Given the description of an element on the screen output the (x, y) to click on. 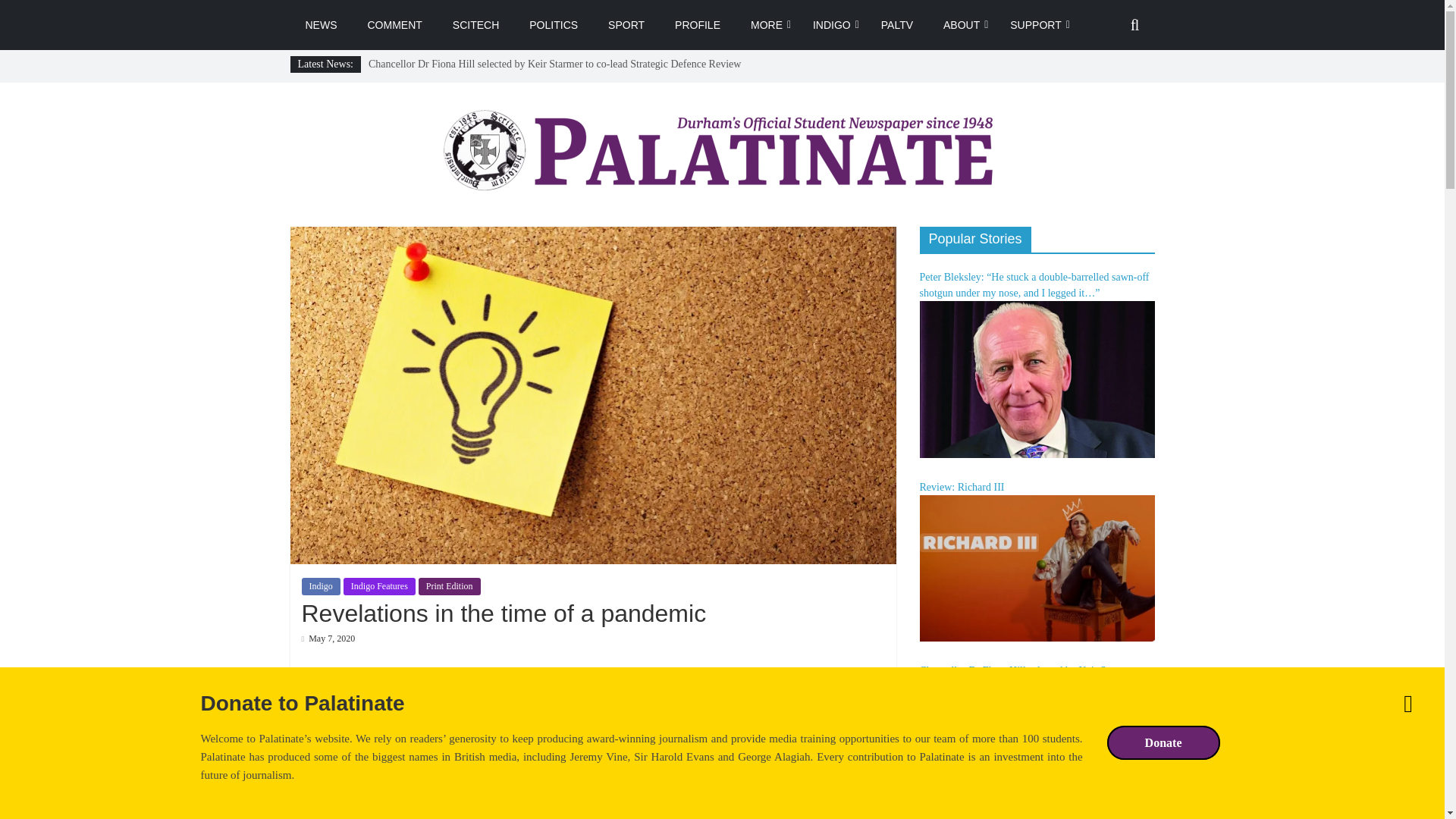
SPORT (625, 24)
MORE (766, 24)
ABOUT (961, 24)
PROFILE (697, 24)
NEWS (320, 24)
PALTV (897, 24)
Posts tagged with Maximus McCabe-Abel (375, 719)
Durham alumni in Parliament after General Election (479, 80)
SUPPORT (1034, 24)
COMMENT (394, 24)
POLITICS (552, 24)
INDIGO (831, 24)
Durham alumni in Parliament after General Election (479, 80)
